Given the description of an element on the screen output the (x, y) to click on. 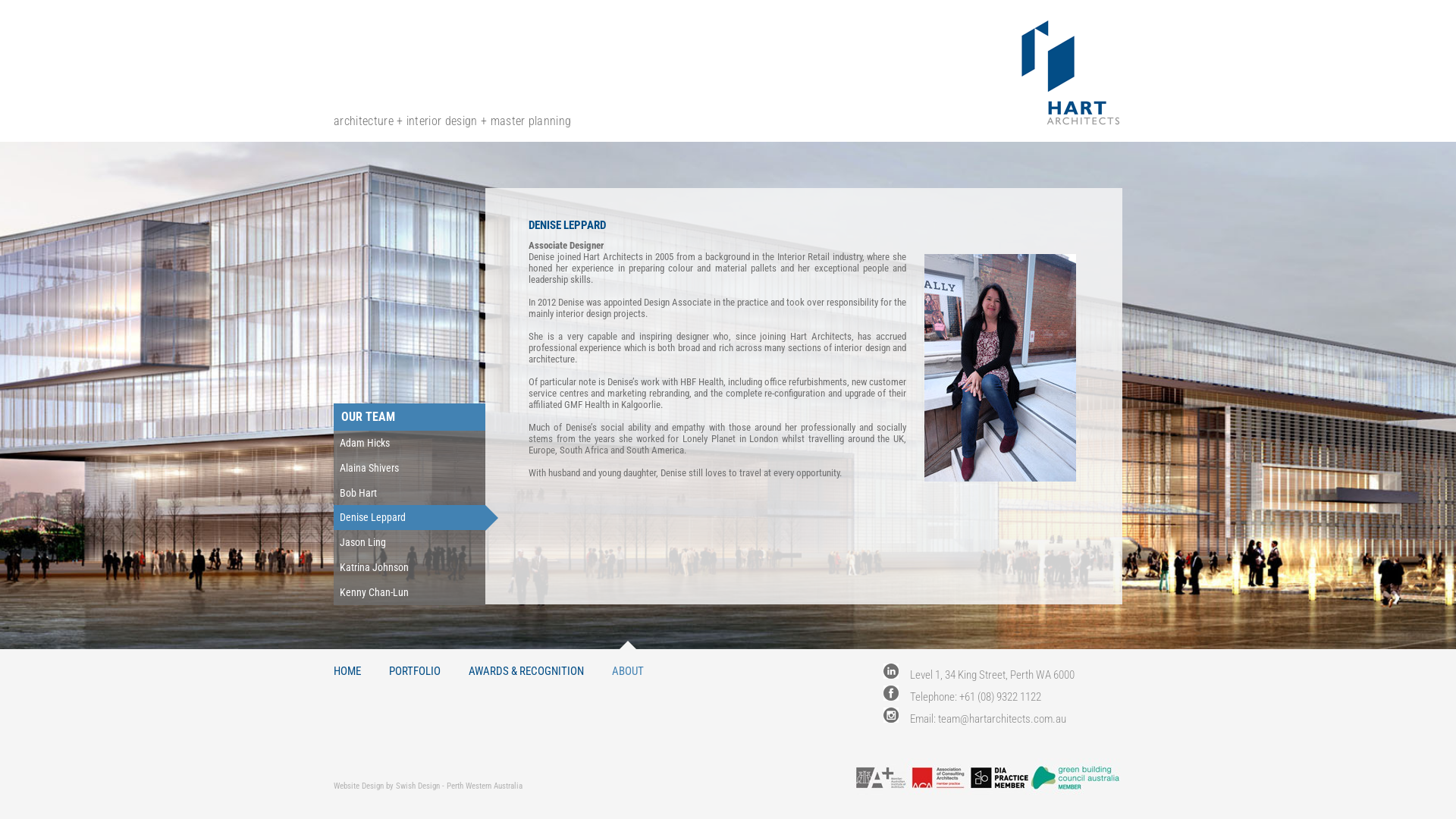
HOME Element type: text (346, 663)
PORTFOLIO Element type: text (414, 663)
Bob Hart Element type: text (409, 492)
Kenny Chan-Lun Element type: text (409, 592)
Adam Hicks Element type: text (409, 442)
ABOUT Element type: text (627, 663)
team@hartarchitects.com.au Element type: text (1002, 718)
Jason Ling Element type: text (409, 542)
AWARDS & RECOGNITION Element type: text (525, 663)
Swish Design Element type: text (417, 785)
Alaina Shivers Element type: text (409, 467)
Denise Leppard Element type: text (409, 517)
Katrina Johnson Element type: text (409, 567)
